Given the description of an element on the screen output the (x, y) to click on. 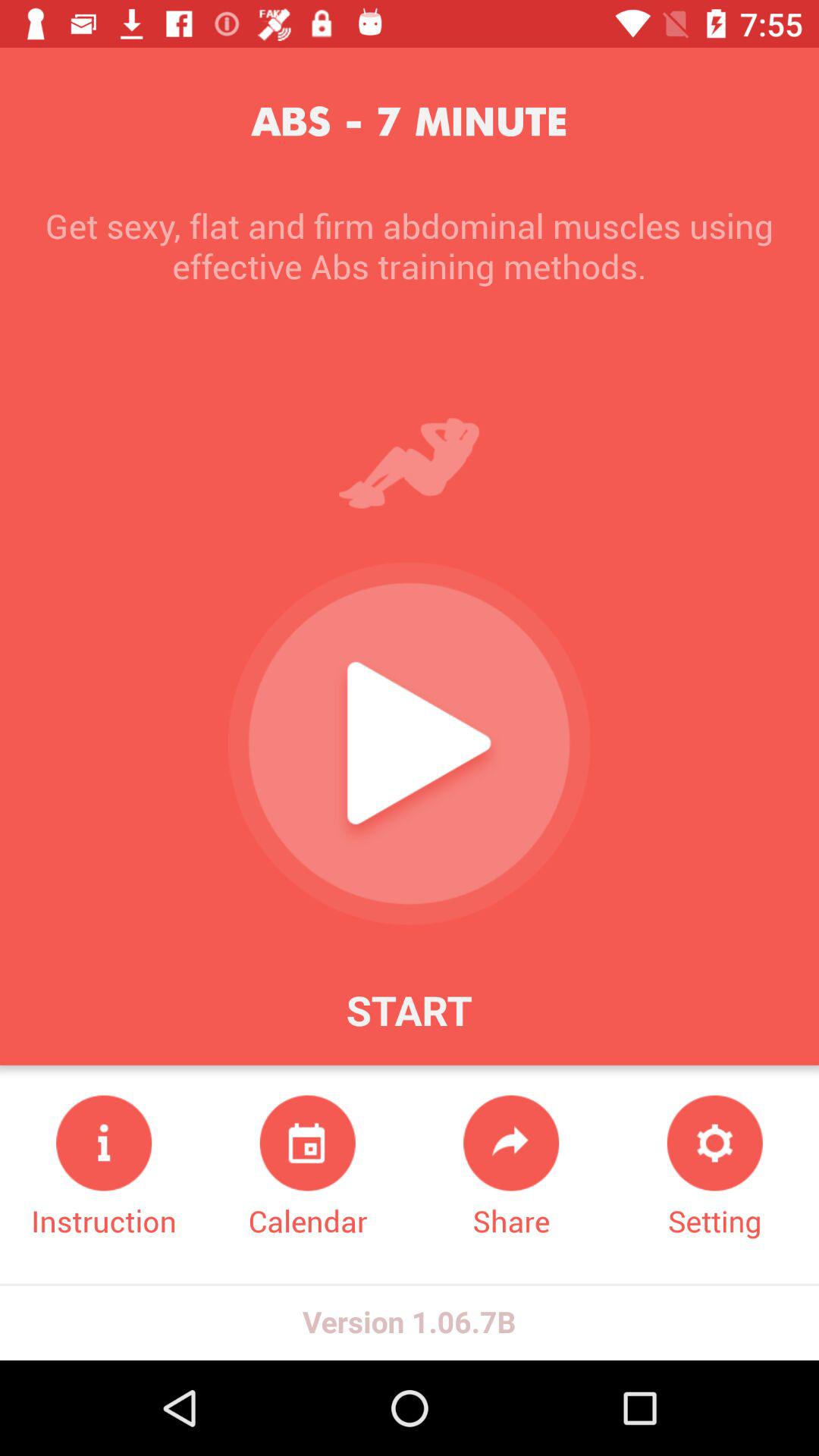
click the item next to the calendar icon (103, 1168)
